Given the description of an element on the screen output the (x, y) to click on. 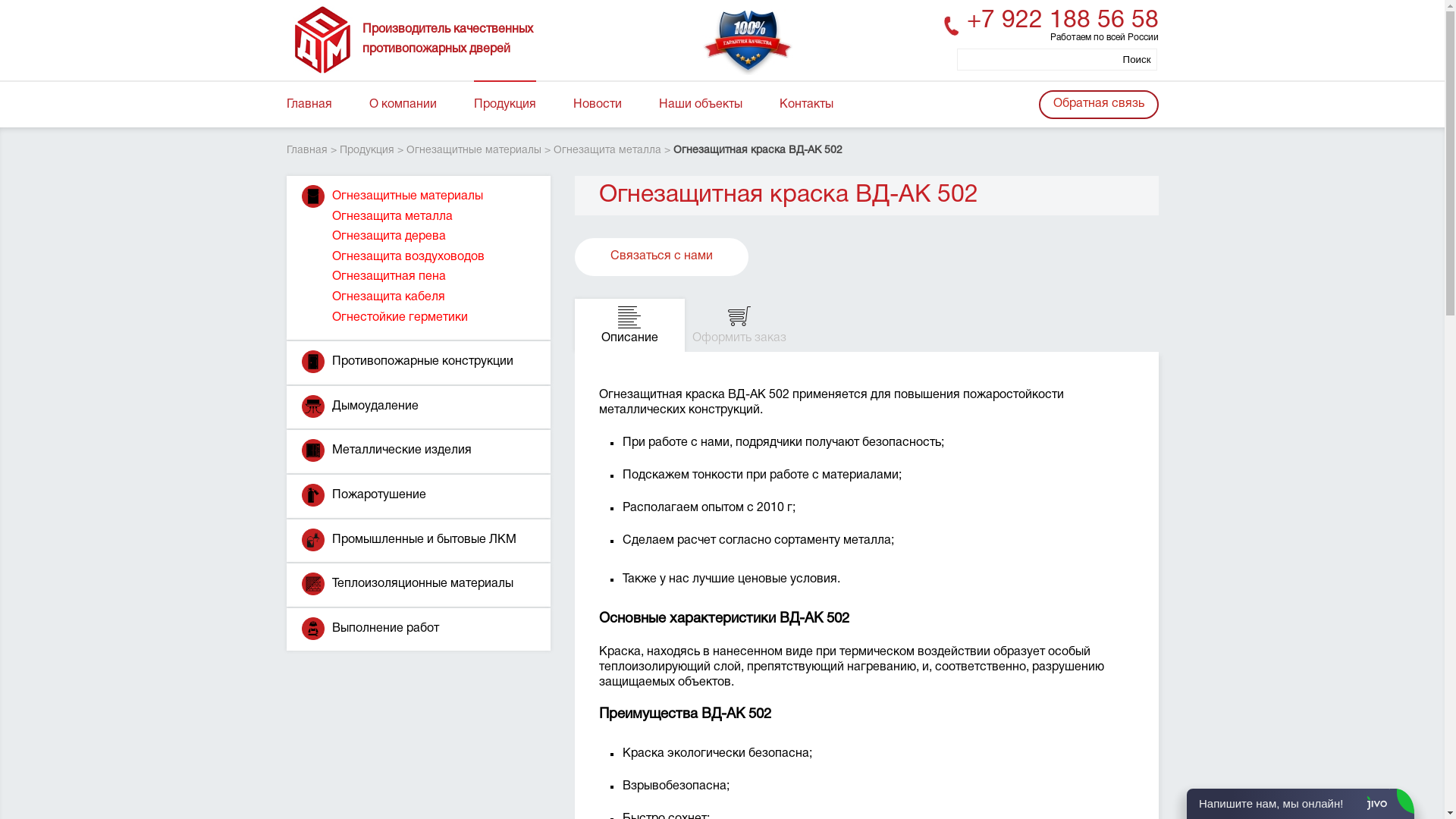
+7 922 188 56 58 Element type: text (1061, 20)
